Given the description of an element on the screen output the (x, y) to click on. 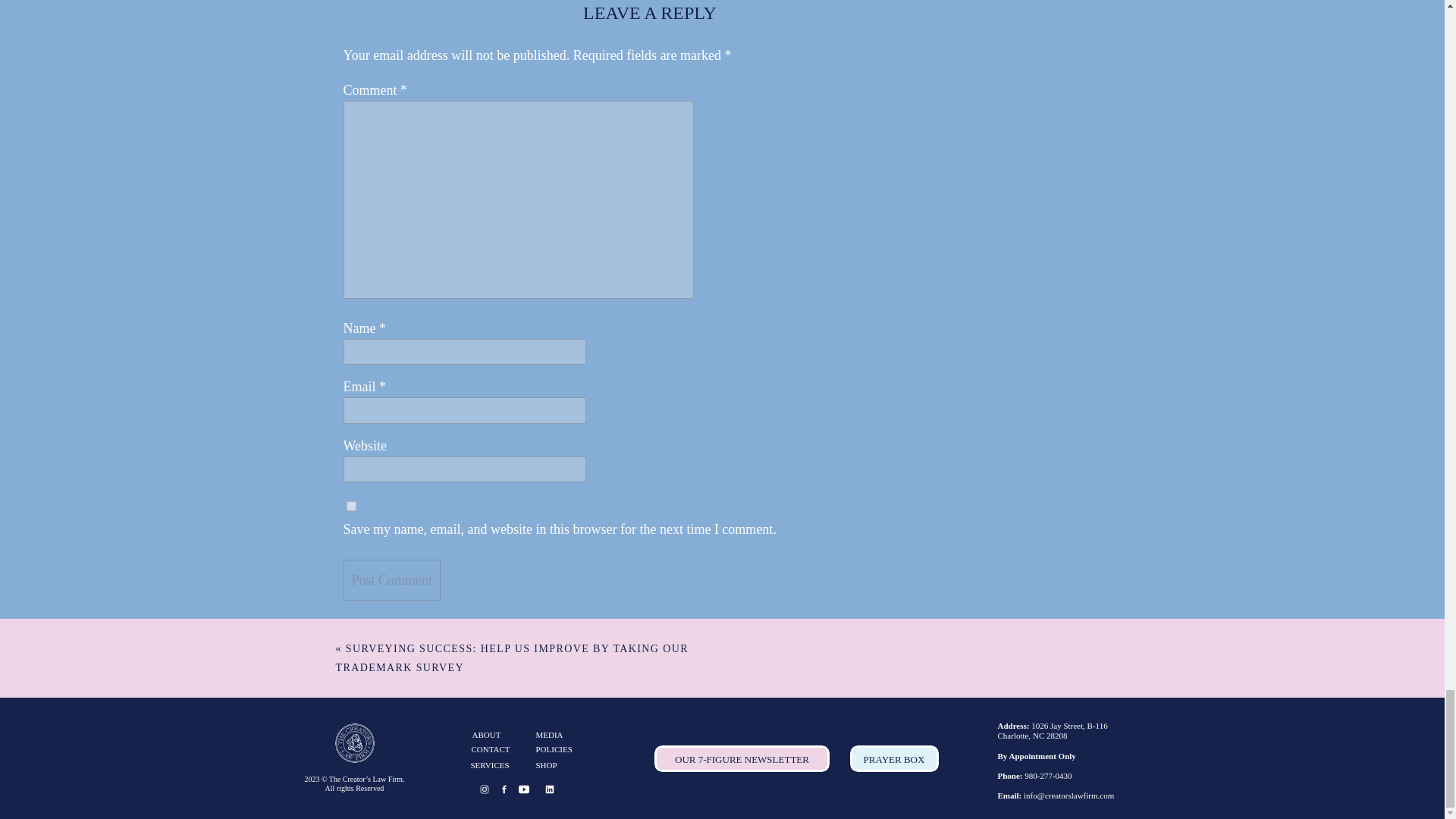
SERVICES (495, 766)
CONTACT (496, 749)
Post Comment (391, 579)
ABOUT (496, 736)
POLICIES (565, 749)
Post Comment (391, 579)
yes (350, 506)
MEDIA (565, 736)
SHOP (565, 766)
